Given the description of an element on the screen output the (x, y) to click on. 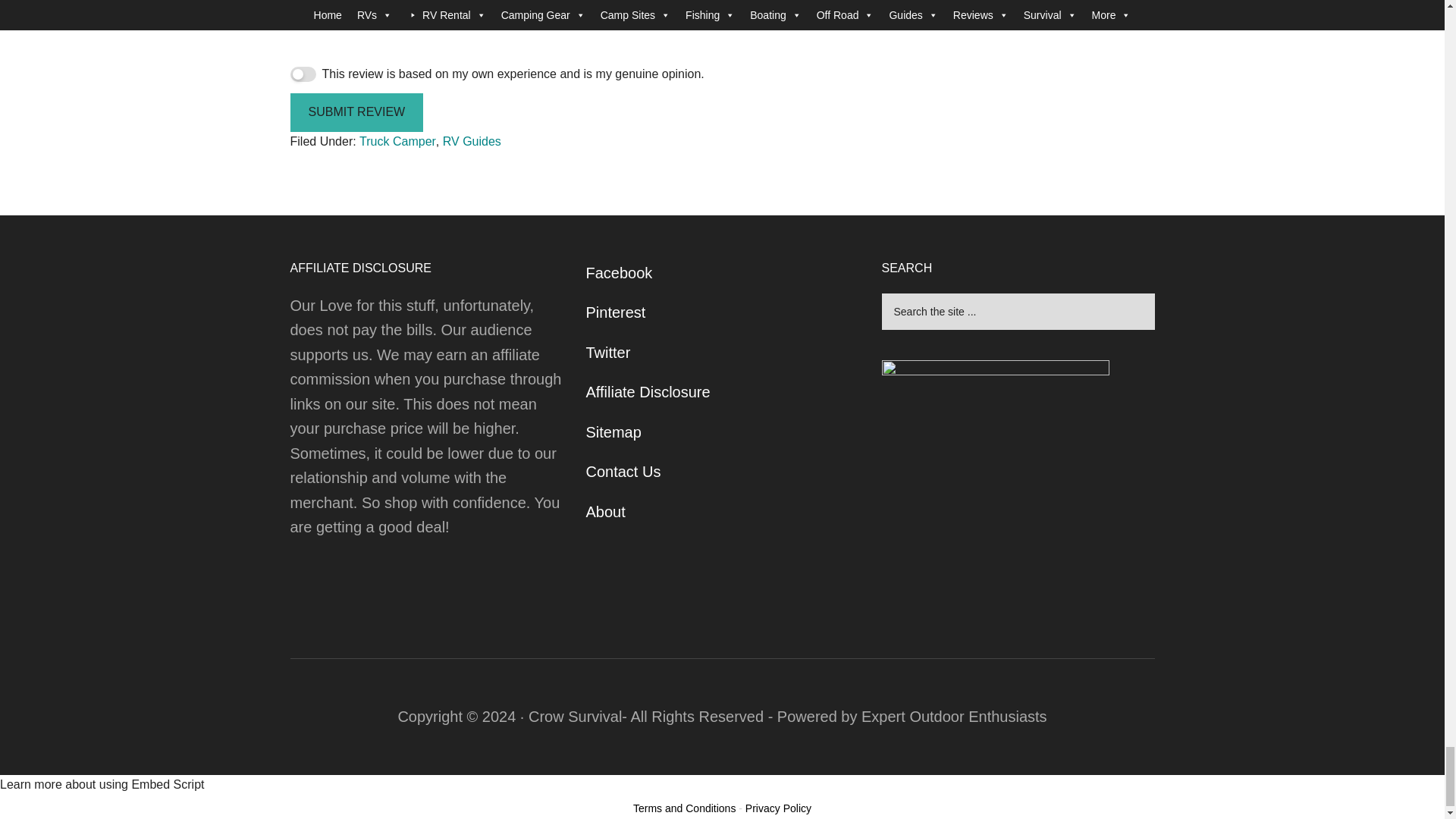
1 (302, 73)
